Given the description of an element on the screen output the (x, y) to click on. 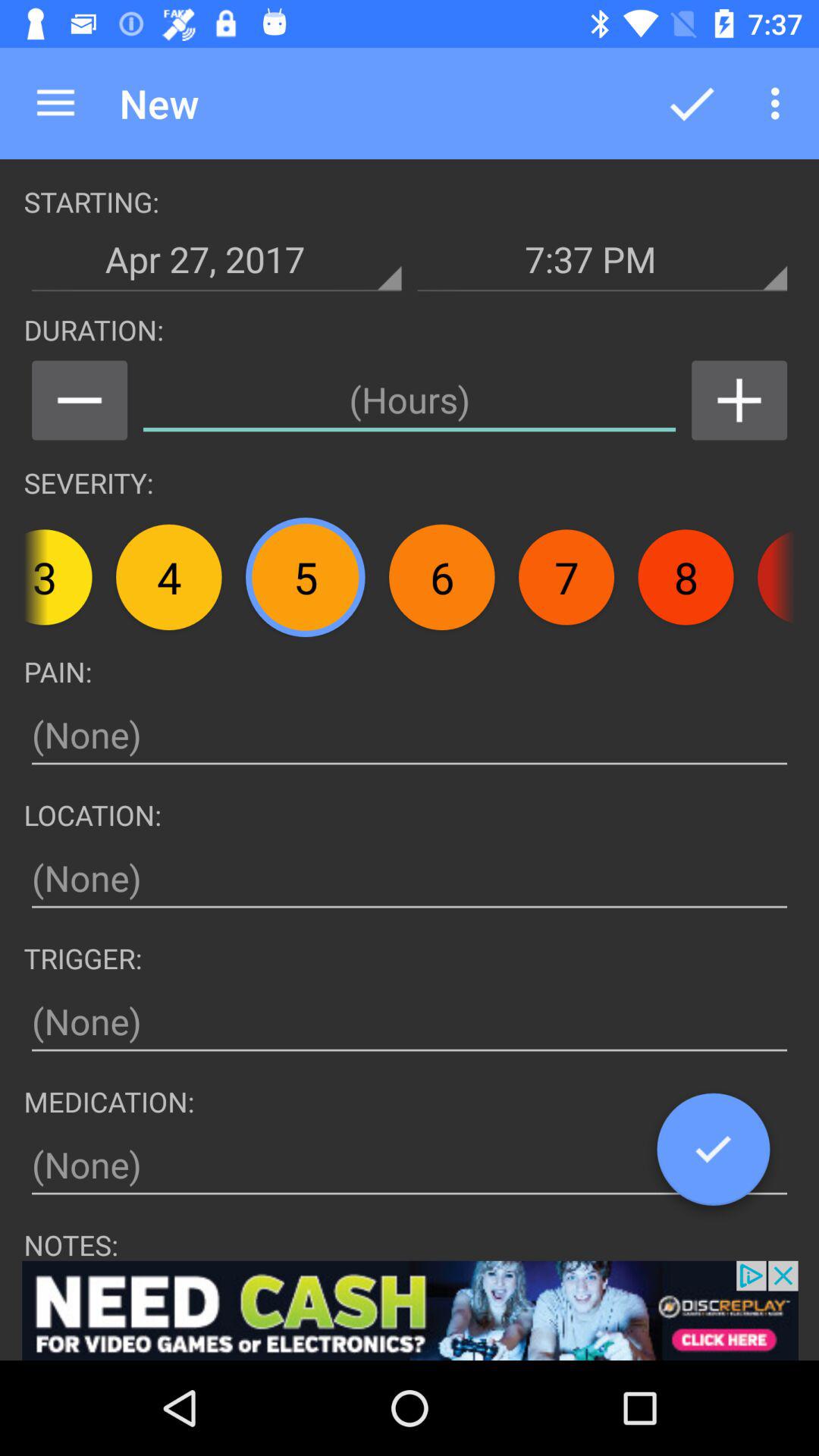
add hours (739, 400)
